Given the description of an element on the screen output the (x, y) to click on. 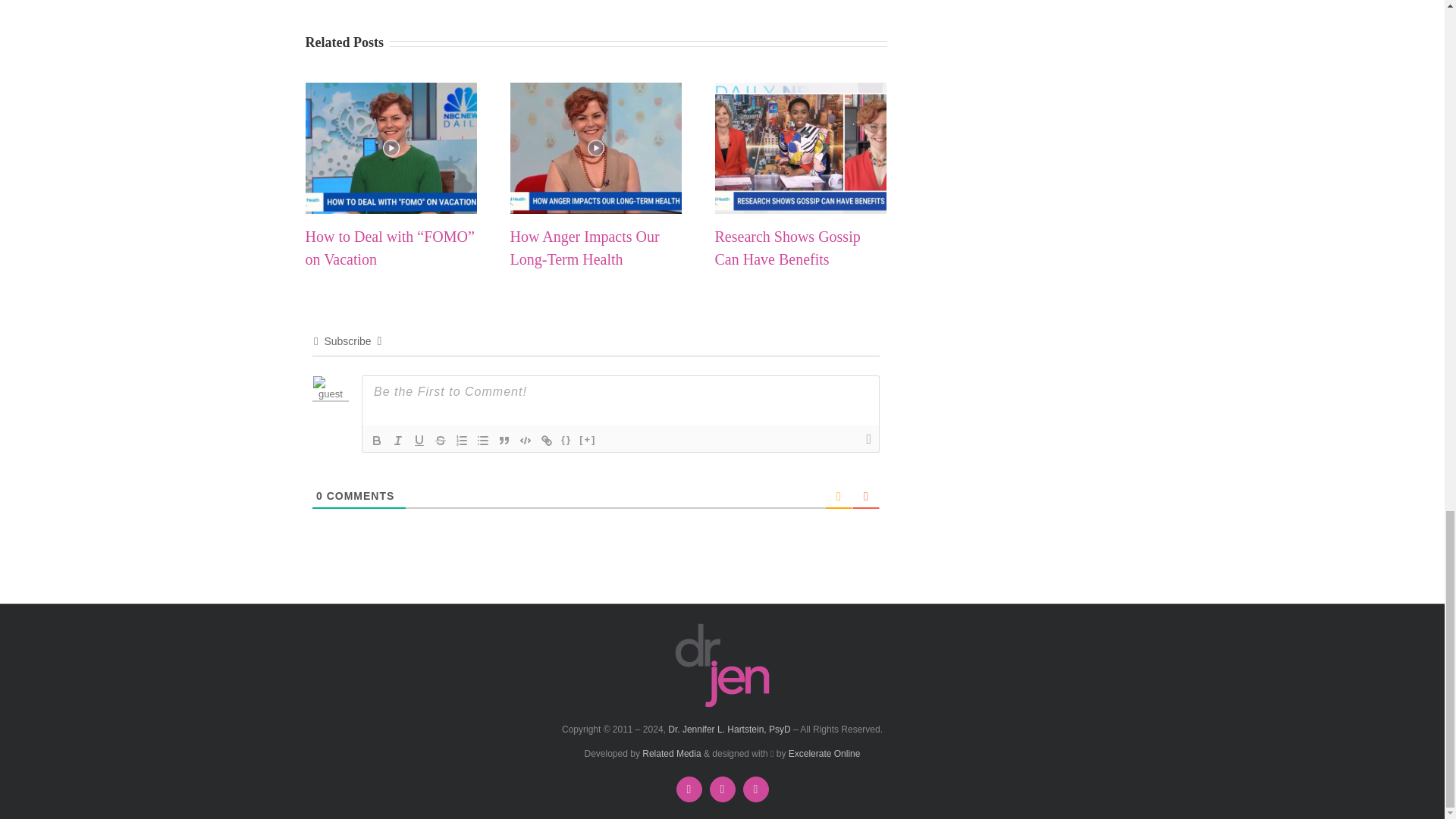
Underline (419, 440)
Strike (440, 440)
Italic (398, 440)
Bold (376, 440)
Blockquote (504, 440)
Unordered List (482, 440)
Ordered List (461, 440)
